Given the description of an element on the screen output the (x, y) to click on. 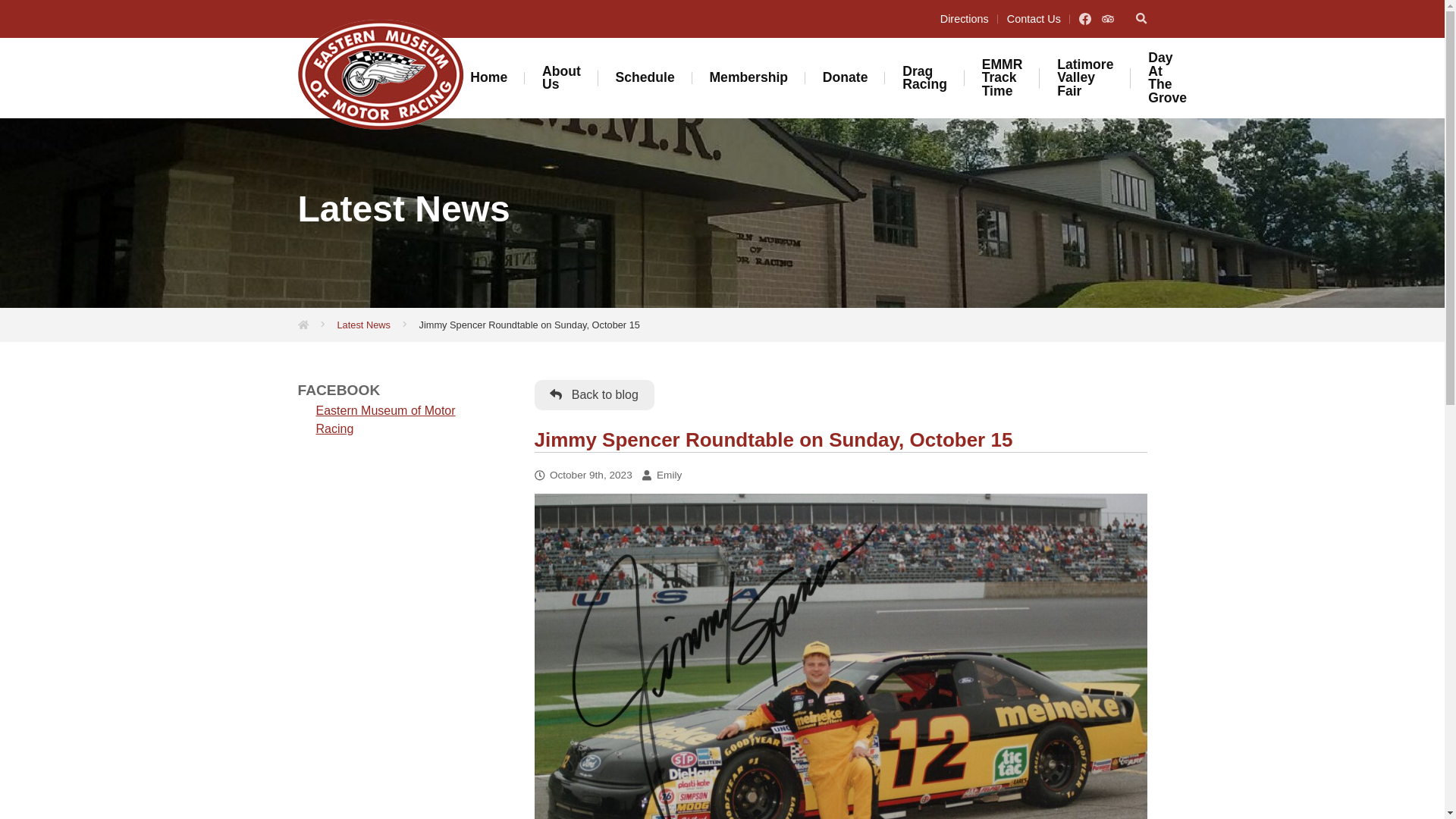
Latest News (363, 324)
About Us (560, 77)
Back to blog (593, 395)
Membership (748, 78)
Home (488, 78)
Schedule (644, 78)
Directions (964, 18)
Eastern Museum of Motor Racing (380, 74)
Eastern Museum of Motor Racing (384, 419)
Latest News (363, 324)
